Given the description of an element on the screen output the (x, y) to click on. 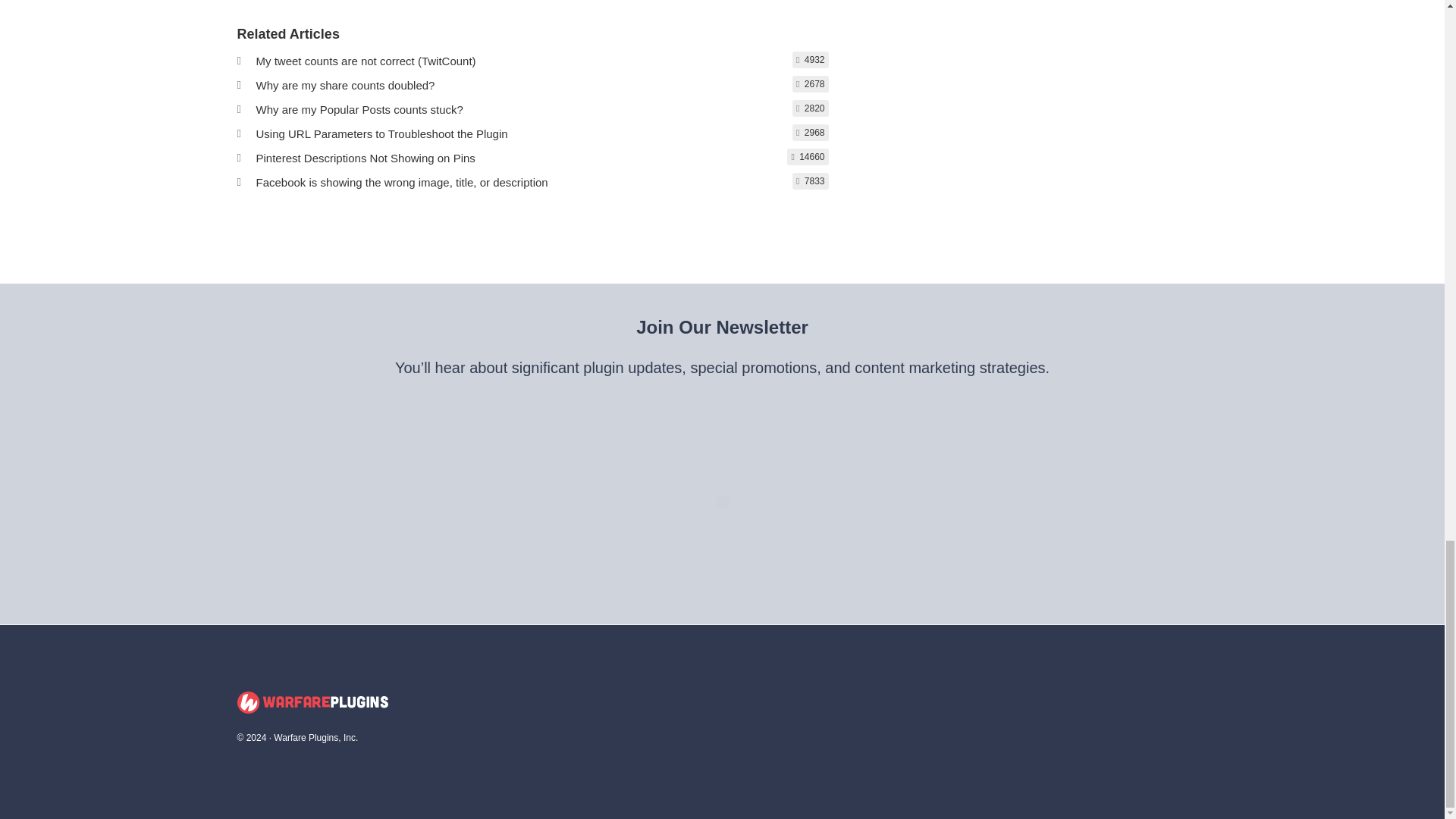
Why are my Popular Posts counts stuck? (359, 109)
Facebook is showing the wrong image, title, or description (402, 182)
Using URL Parameters to Troubleshoot the Plugin (382, 133)
Pinterest Descriptions Not Showing on Pins (366, 157)
Why are my share counts doubled? (345, 84)
